Given the description of an element on the screen output the (x, y) to click on. 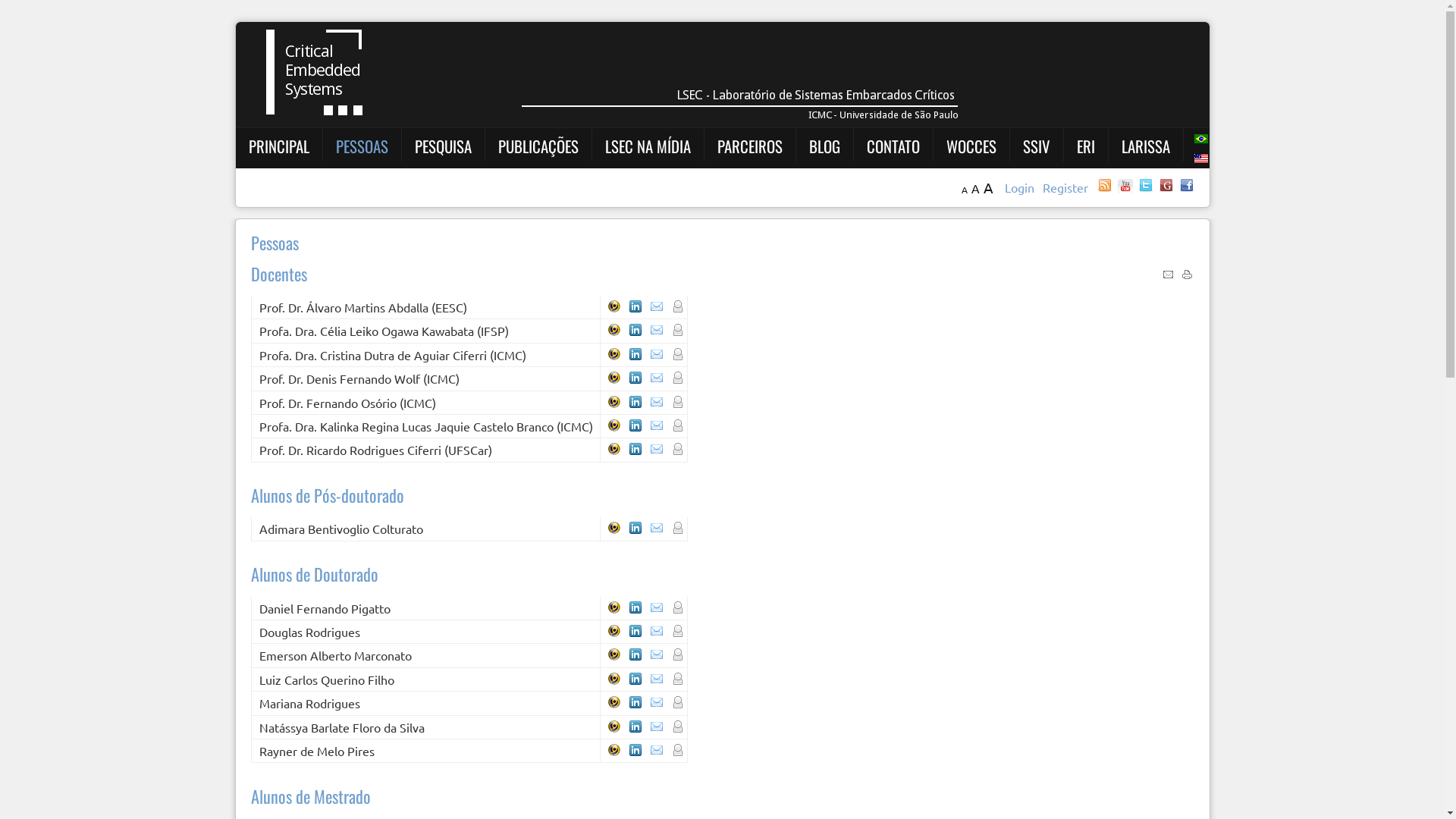
Imprimir Element type: hover (1186, 274)
Login Element type: text (1020, 186)
ERI Element type: text (1085, 145)
Register Element type: text (1064, 186)
LARISSA Element type: text (1144, 145)
CONTATO Element type: text (892, 145)
PESSOAS Element type: text (361, 145)
A Element type: text (974, 187)
PRINCIPAL Element type: text (278, 145)
English Element type: hover (1200, 158)
PARCEIROS Element type: text (749, 145)
E-mail Element type: hover (1167, 274)
A Element type: text (964, 189)
A Element type: text (987, 187)
Pessoas Element type: text (274, 241)
SSIV Element type: text (1035, 145)
BLOG Element type: text (823, 145)
WOCCES Element type: text (971, 145)
PESQUISA Element type: text (442, 145)
